Given the description of an element on the screen output the (x, y) to click on. 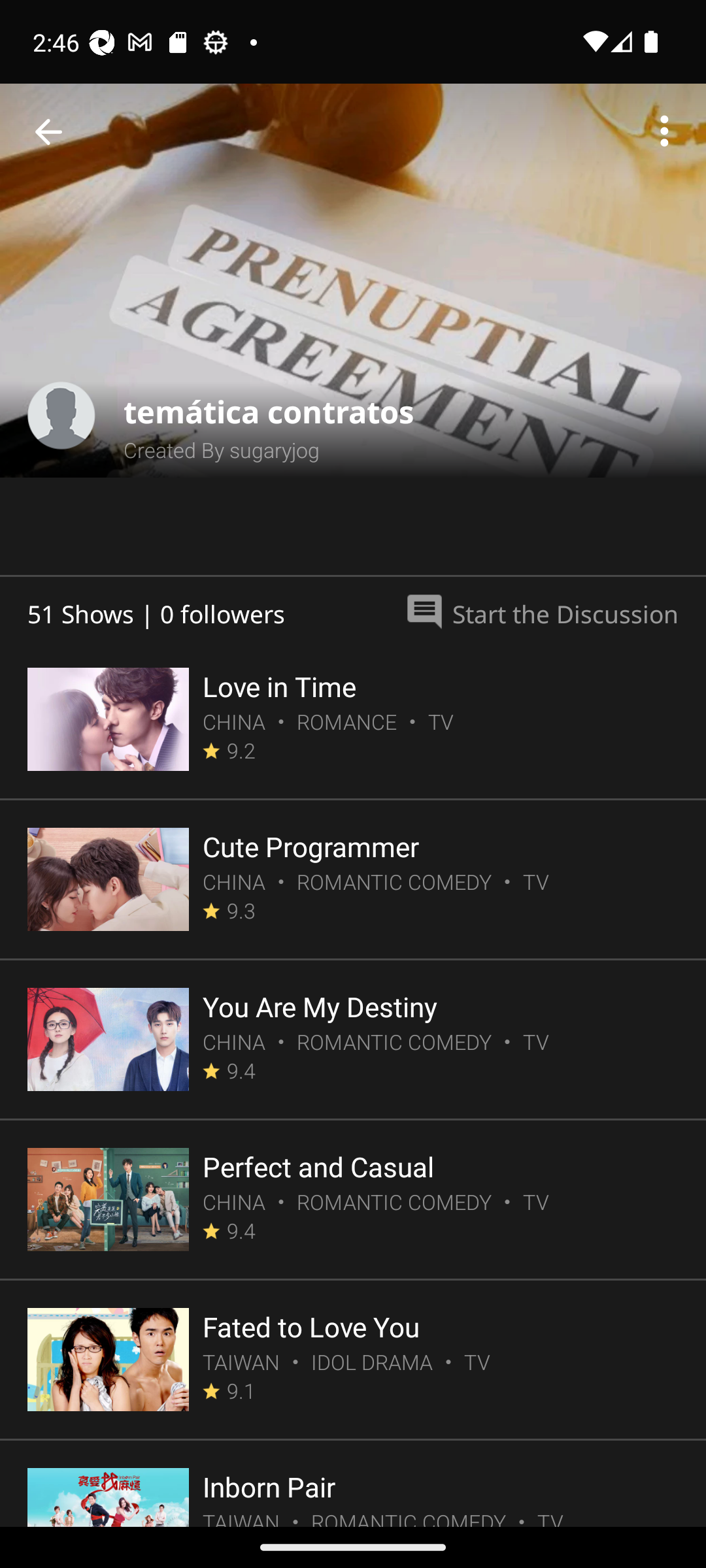
close_button (48, 131)
Settings (664, 131)
Start the Discussion (540, 608)
Love in Time CHINA ・ ROMANCE ・ TV 9.2 (353, 719)
Cute Programmer CHINA ・ ROMANTIC COMEDY ・ TV 9.3 (353, 879)
Fated to Love You TAIWAN ・ IDOL DRAMA ・ TV 9.1 (353, 1360)
Inborn Pair TAIWAN ・ ROMANTIC COMEDY ・ TV (353, 1483)
